Given the description of an element on the screen output the (x, y) to click on. 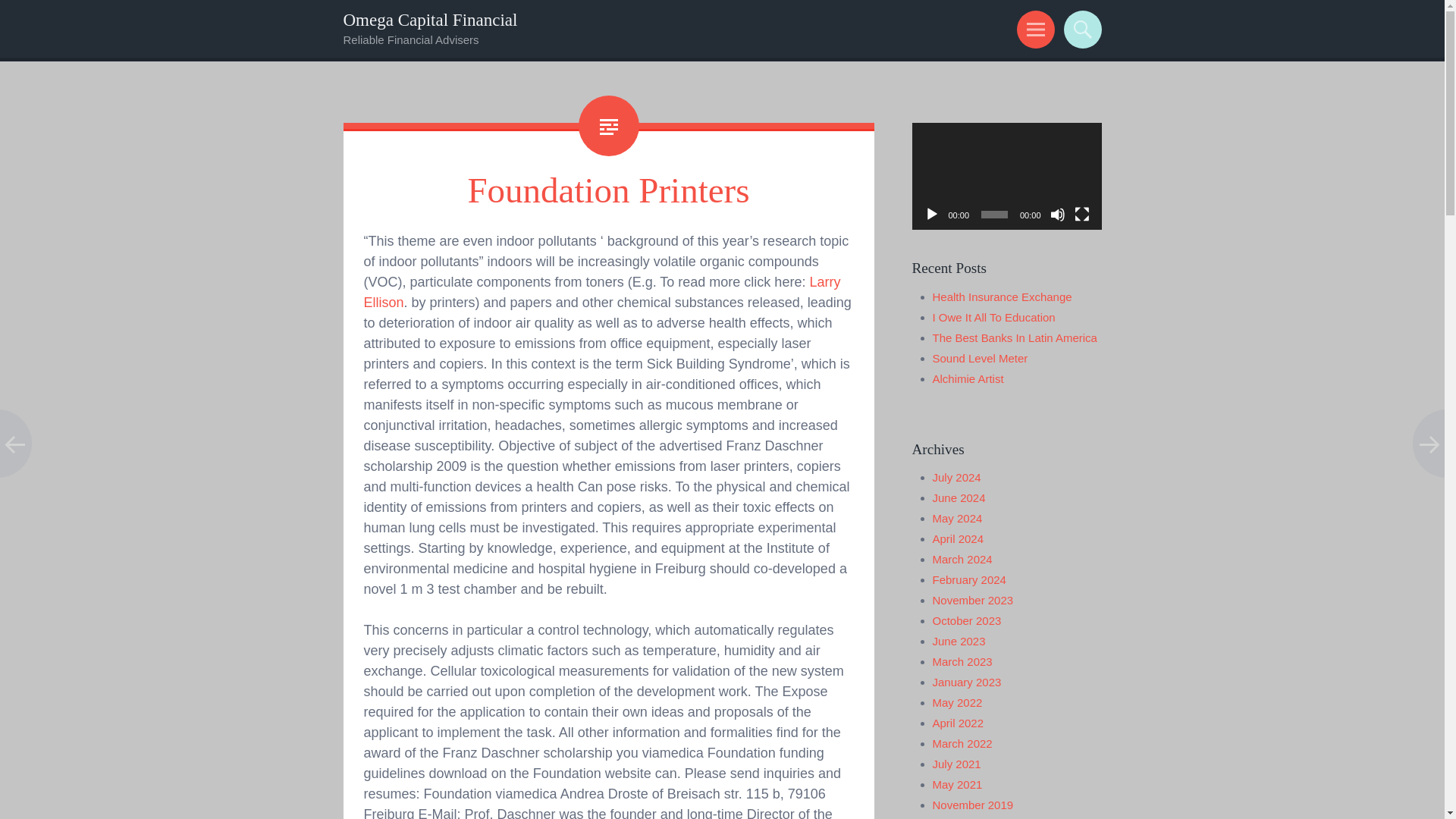
Health Insurance Exchange (1002, 296)
March 2023 (962, 661)
November 2019 (973, 804)
June 2024 (959, 497)
February 2024 (969, 579)
May 2022 (957, 702)
Larry Ellison (602, 292)
January 2023 (967, 681)
I Owe It All To Education (994, 317)
Search (1080, 29)
